Given the description of an element on the screen output the (x, y) to click on. 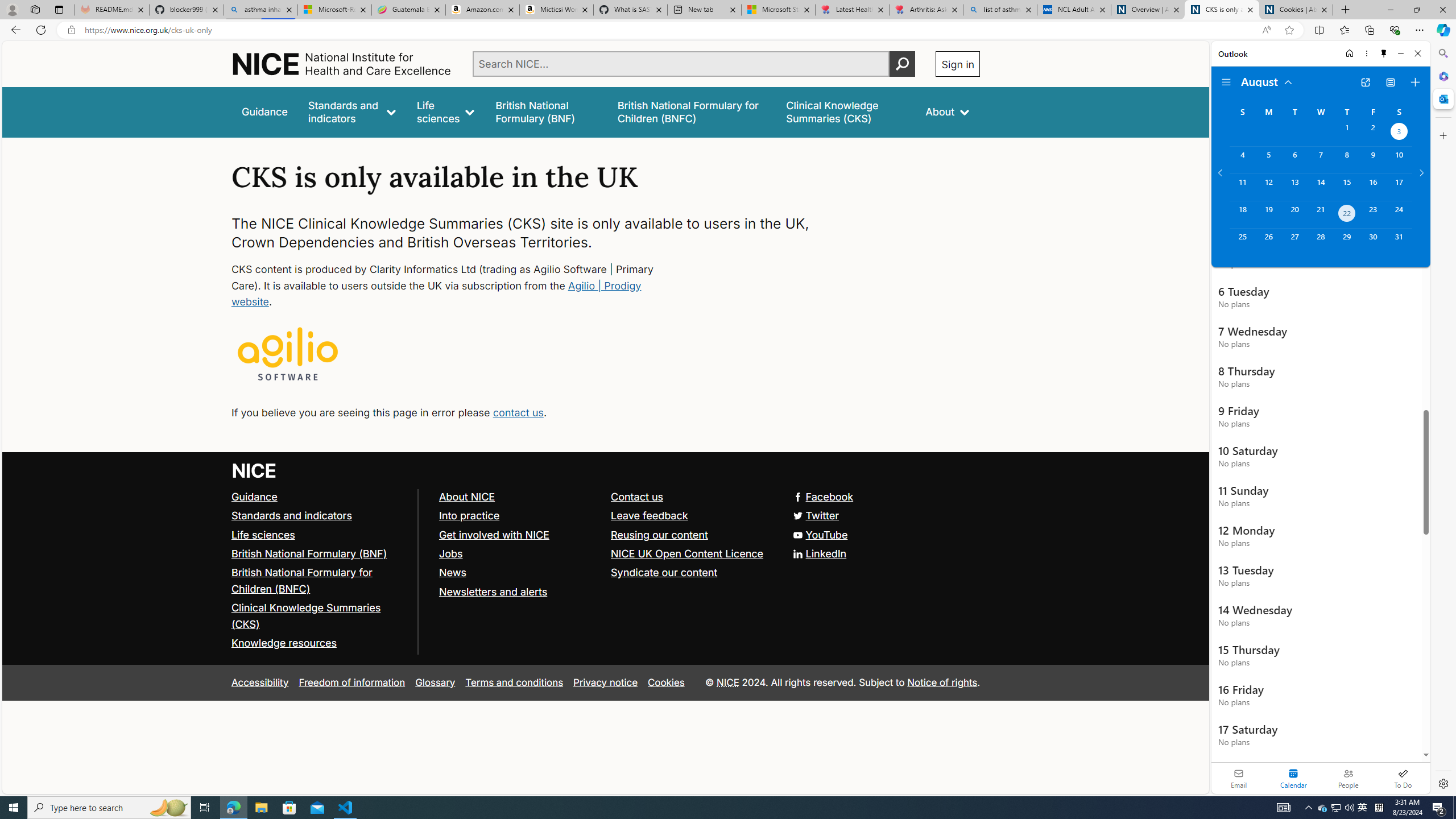
Monday, August 19, 2024.  (1268, 214)
Glossary (434, 682)
Email (1238, 777)
Life sciences (263, 534)
Sunday, August 18, 2024.  (1242, 214)
Leave feedback (692, 515)
Contact us (637, 496)
Friday, August 9, 2024.  (1372, 159)
Monday, August 5, 2024.  (1268, 159)
About (947, 111)
Saturday, August 31, 2024.  (1399, 241)
